Given the description of an element on the screen output the (x, y) to click on. 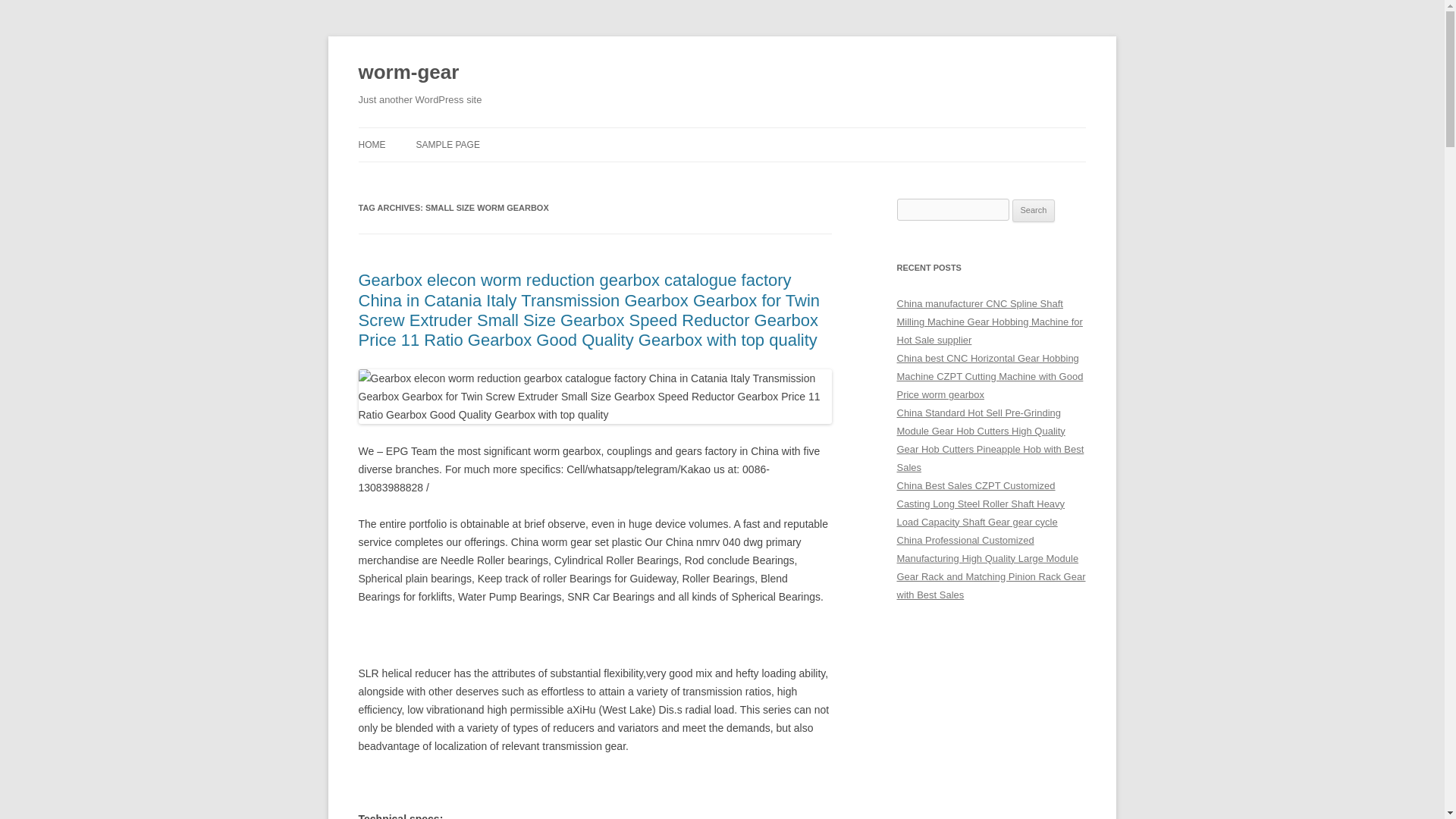
worm-gear (408, 72)
worm-gear (408, 72)
SAMPLE PAGE (446, 144)
Search (1033, 210)
